Given the description of an element on the screen output the (x, y) to click on. 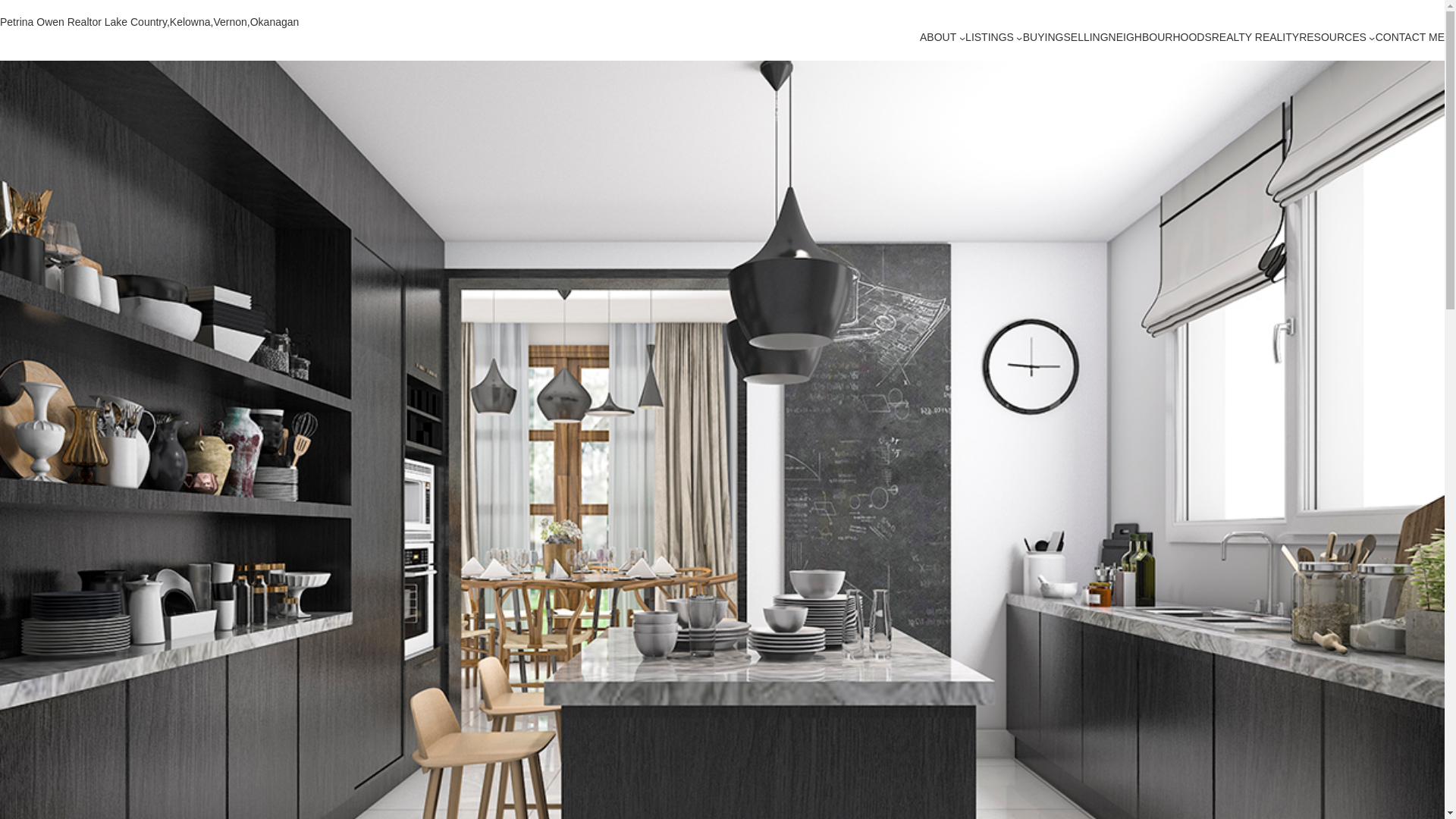
LISTINGS (989, 37)
REALTY REALITY (1254, 37)
Petrina Owen Realtor Lake Country,Kelowna,Vernon,Okanagan (149, 21)
RESOURCES (1332, 37)
NEIGHBOURHOODS (1159, 37)
SELLING (1085, 37)
ABOUT (938, 37)
About Petrina Koltun Kelowna Real Estate Sales Royal LePage (938, 37)
BUYING (1043, 37)
